Given the description of an element on the screen output the (x, y) to click on. 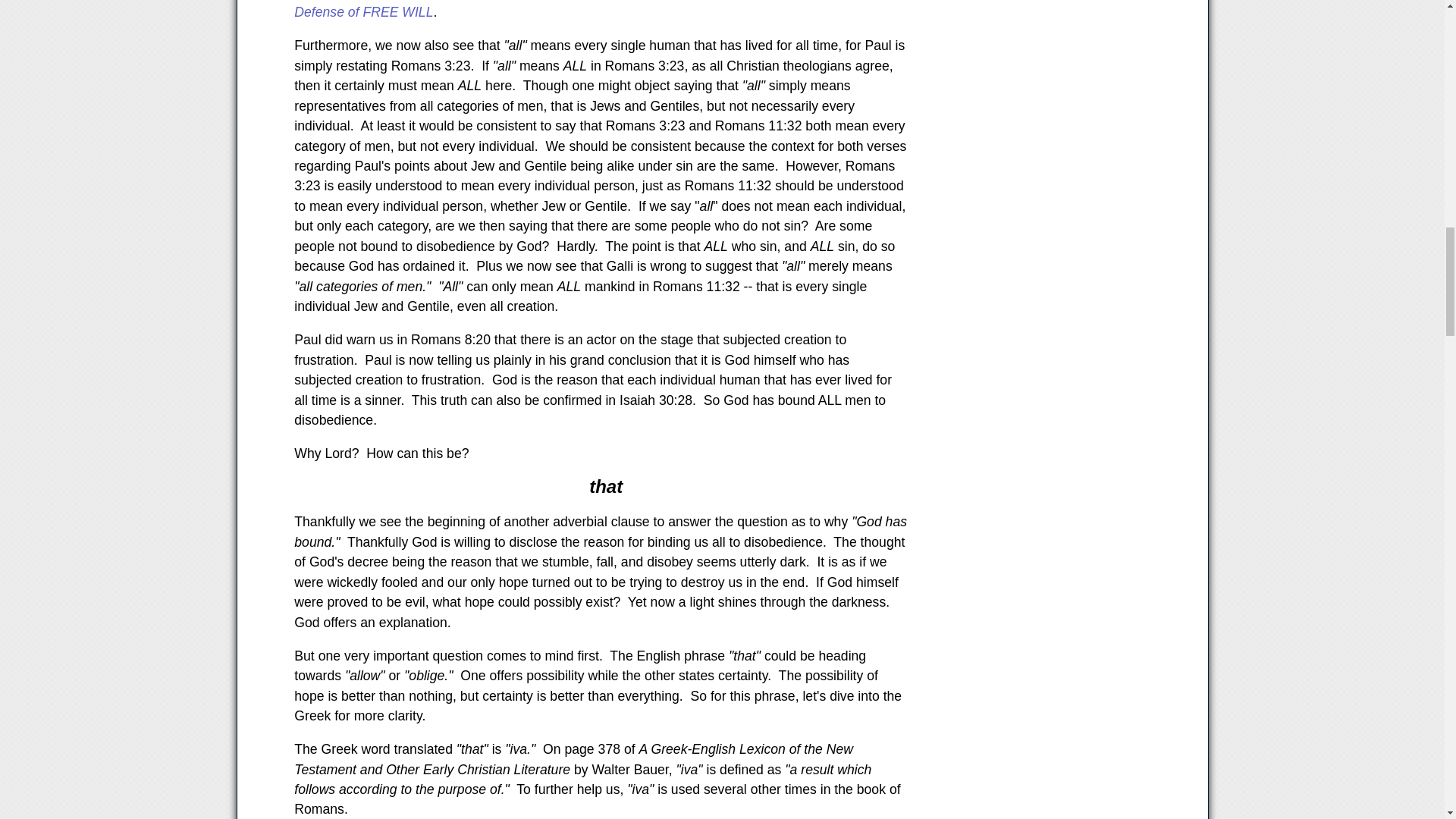
A Quintessential Defense of FREE WILL (598, 9)
